Given the description of an element on the screen output the (x, y) to click on. 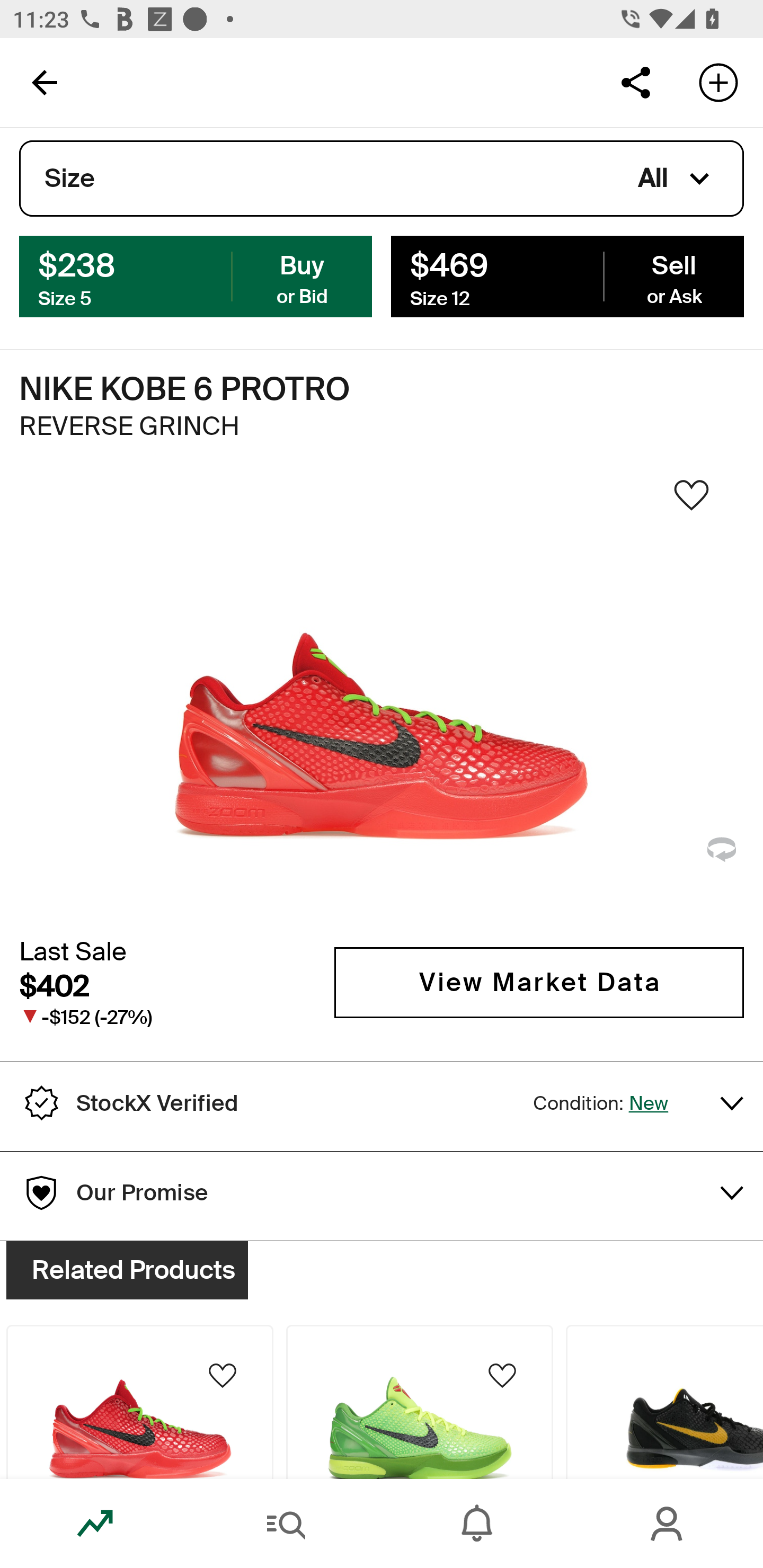
Share (635, 81)
Add (718, 81)
Size All (381, 178)
$238 Buy Size 5 or Bid (195, 275)
$469 Sell Size 12 or Ask (566, 275)
Sneaker Image (381, 699)
View Market Data (538, 982)
Product Image (139, 1401)
Product Image (419, 1401)
Product Image (664, 1401)
Search (285, 1523)
Inbox (476, 1523)
Account (667, 1523)
